Given the description of an element on the screen output the (x, y) to click on. 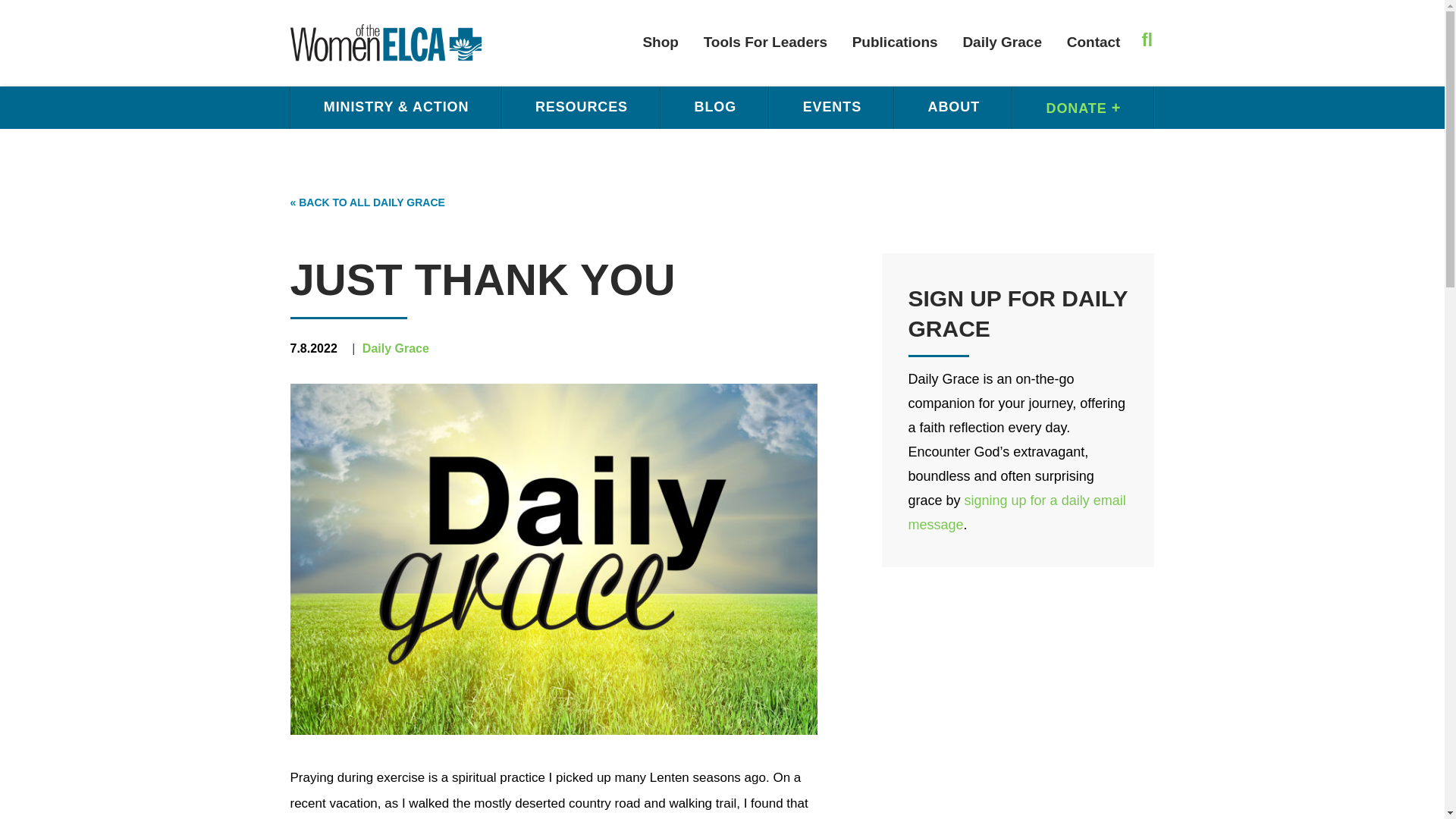
OPEN SEARCH (1142, 39)
Tools For Leaders (765, 42)
Contact (1094, 42)
RESOURCES (581, 106)
ABOUT (953, 106)
BLOG (714, 106)
Publications (895, 42)
EVENTS (831, 106)
Shop (659, 42)
Daily Grace (1002, 42)
